Given the description of an element on the screen output the (x, y) to click on. 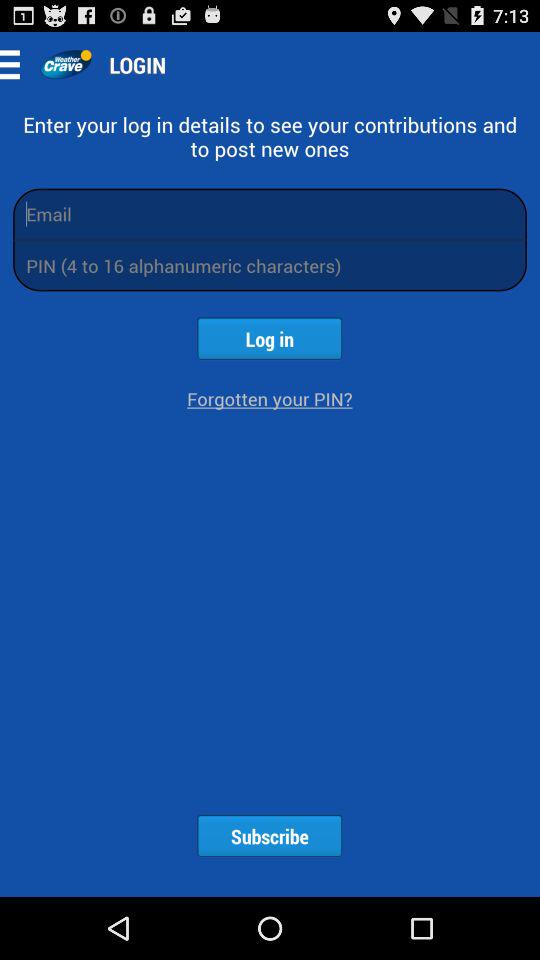
more info (16, 63)
